Given the description of an element on the screen output the (x, y) to click on. 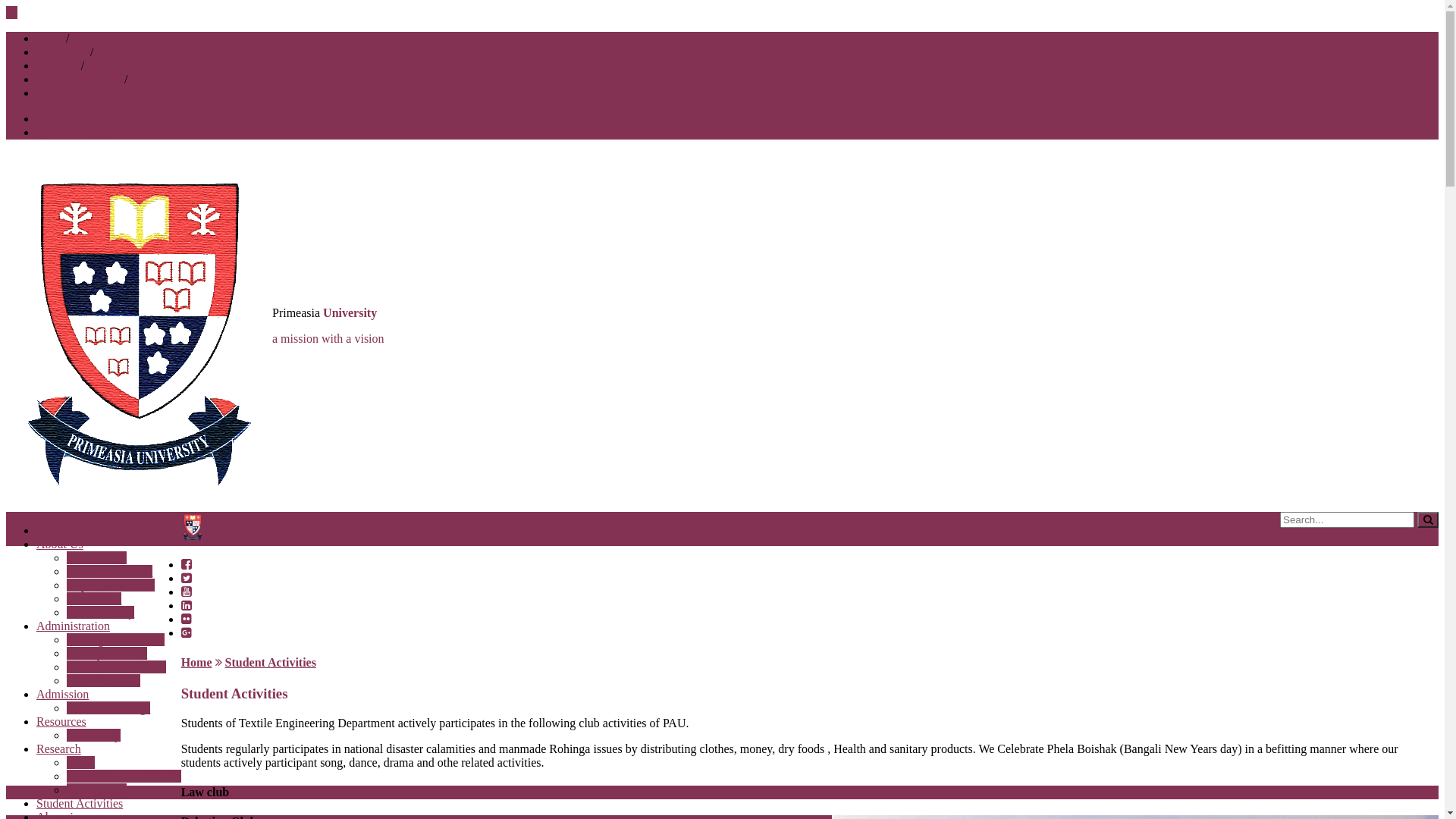
Administrative Staff Element type: text (116, 666)
Laboratory Element type: text (93, 734)
Faculty Member Element type: text (106, 652)
Photo Gallery Element type: text (100, 611)
Our Events Element type: text (93, 598)
About Us Element type: text (59, 543)
Message from Head Element type: text (115, 639)
Student Activities Element type: text (269, 661)
Research Element type: text (58, 748)
UMS-Login Element type: text (72, 131)
Research Element type: text (58, 65)
Research Collaboration Element type: text (123, 775)
Administration Element type: text (72, 625)
Technical Staff Element type: text (103, 680)
E-Payment Element type: text (63, 92)
Department News Element type: text (110, 584)
Areas Element type: text (80, 762)
Laboratory Element type: text (63, 51)
WebMail Element type: text (66, 118)
Publications Element type: text (96, 789)
Home Element type: text (196, 661)
Course Offerings Element type: text (108, 707)
Introduction Element type: text (96, 557)
Student Activities Element type: text (79, 803)
Mission & Vision Element type: text (109, 570)
Admission Element type: text (62, 693)
Online Admission Element type: text (80, 78)
Home Element type: text (50, 37)
Resources Element type: text (61, 721)
